Given the description of an element on the screen output the (x, y) to click on. 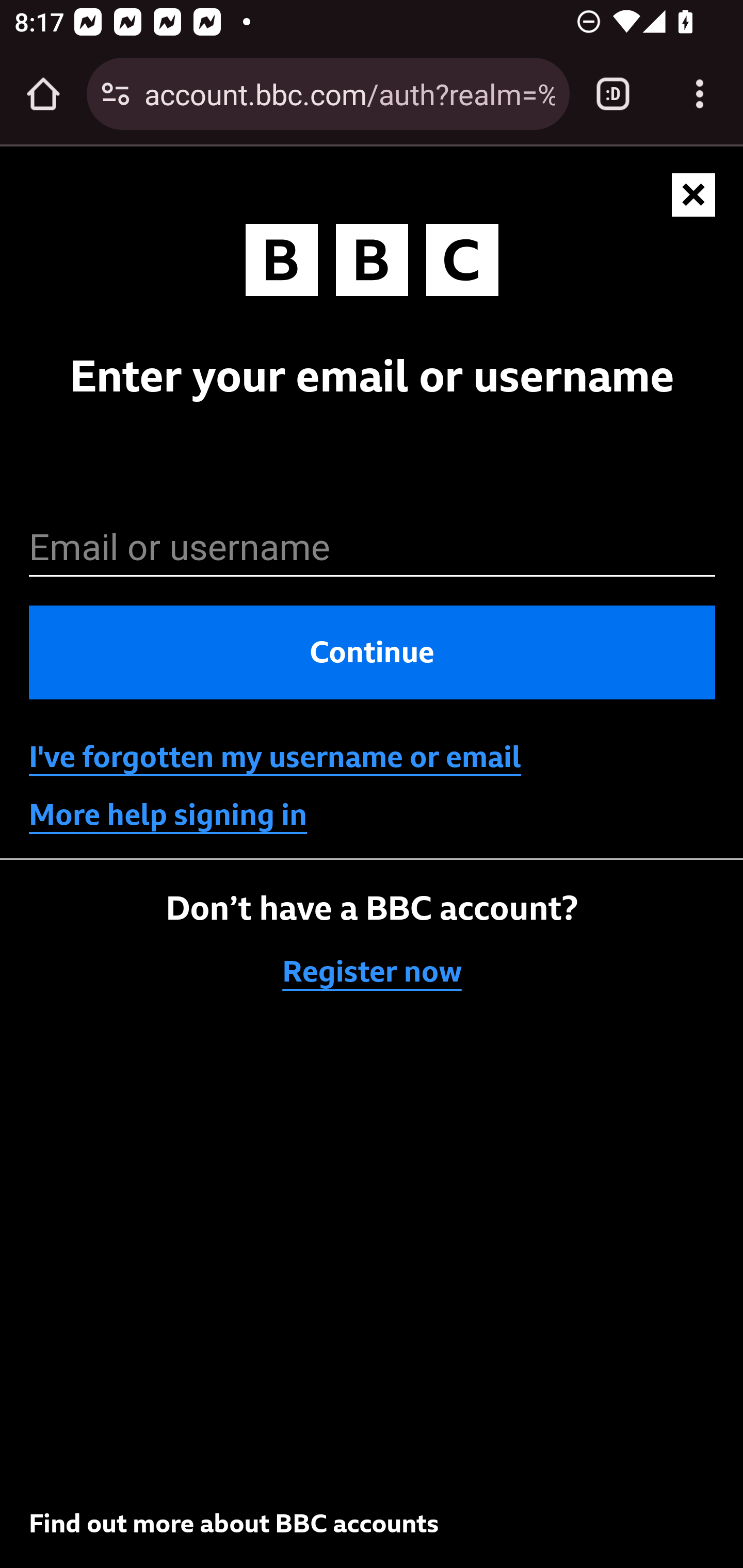
Open the home page (43, 93)
Connection is secure (115, 93)
Switch or close tabs (612, 93)
Customize and control Google Chrome (699, 93)
Close and return to where you originally came from (694, 195)
Go to the BBC Homepage (371, 264)
Continue (372, 652)
I've forgotten my username or email (274, 757)
More help signing in (168, 815)
Register now (372, 971)
Find out more about BBC accounts (234, 1522)
